Given the description of an element on the screen output the (x, y) to click on. 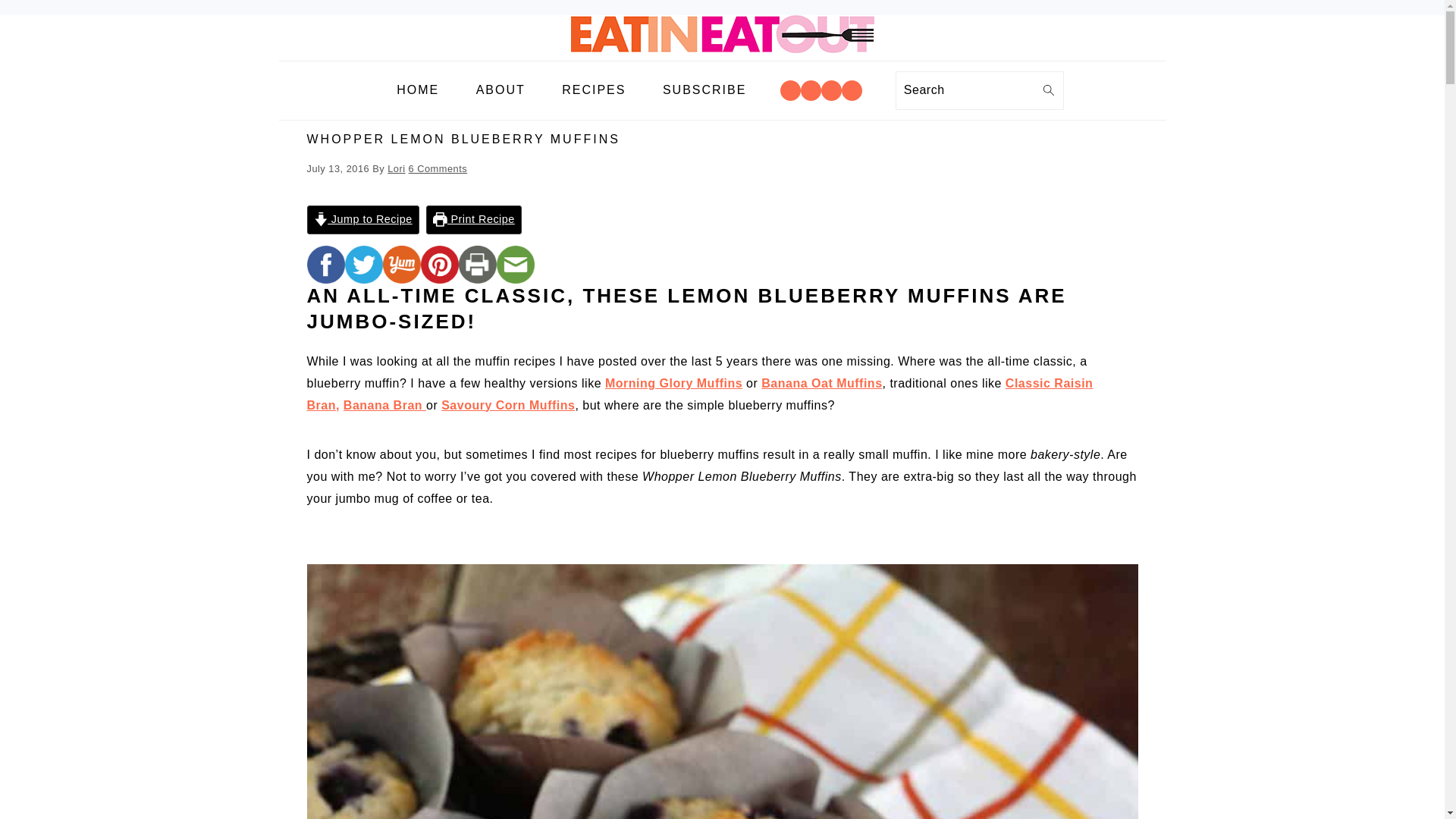
pinterest (439, 264)
Pinterest (831, 90)
yummly (400, 264)
Facebook (790, 90)
Lori (395, 168)
facebook (324, 264)
HOME (417, 90)
Instagram (810, 90)
Twitter (851, 90)
